Given the description of an element on the screen output the (x, y) to click on. 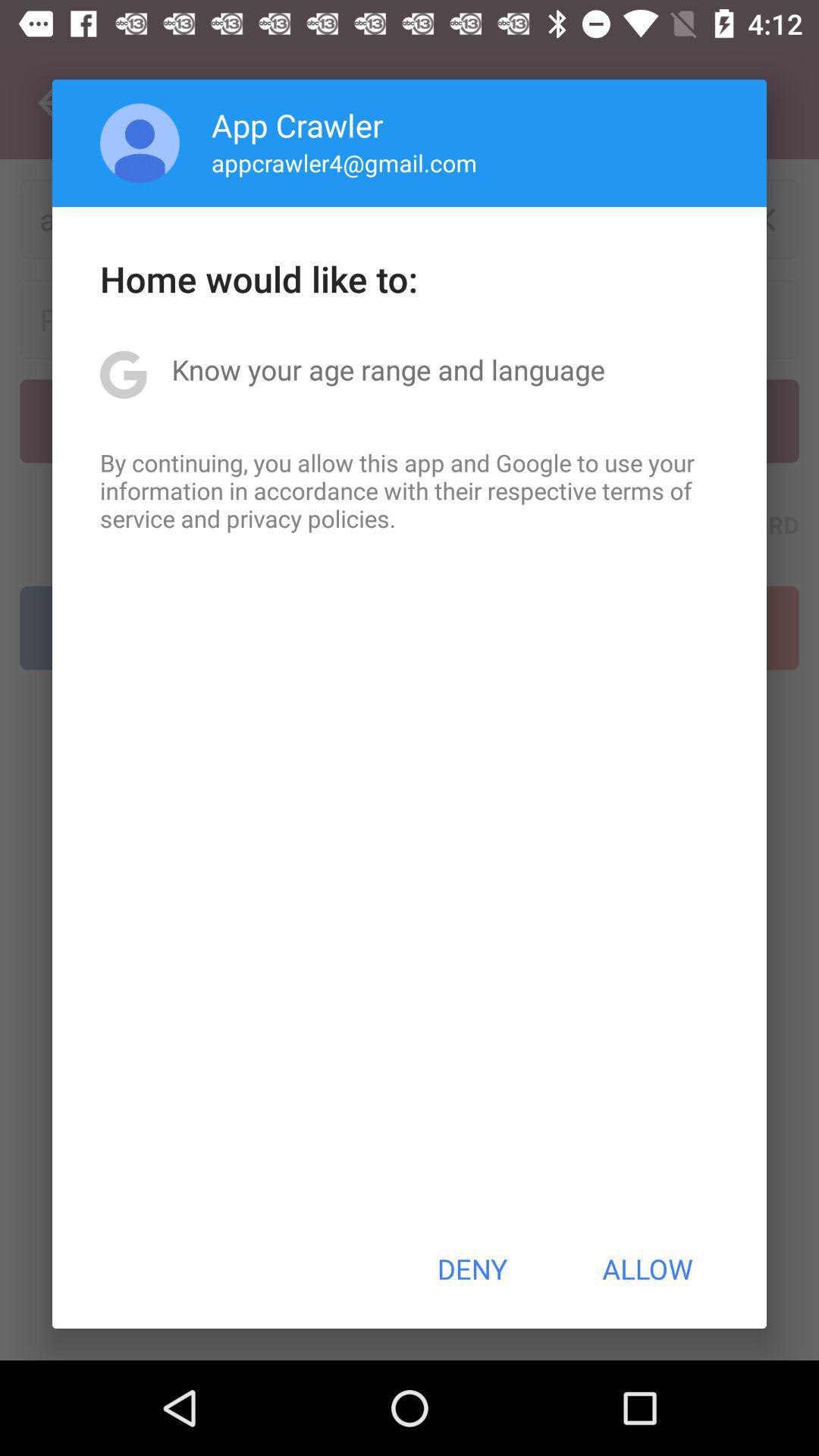
tap the icon below app crawler app (344, 162)
